Given the description of an element on the screen output the (x, y) to click on. 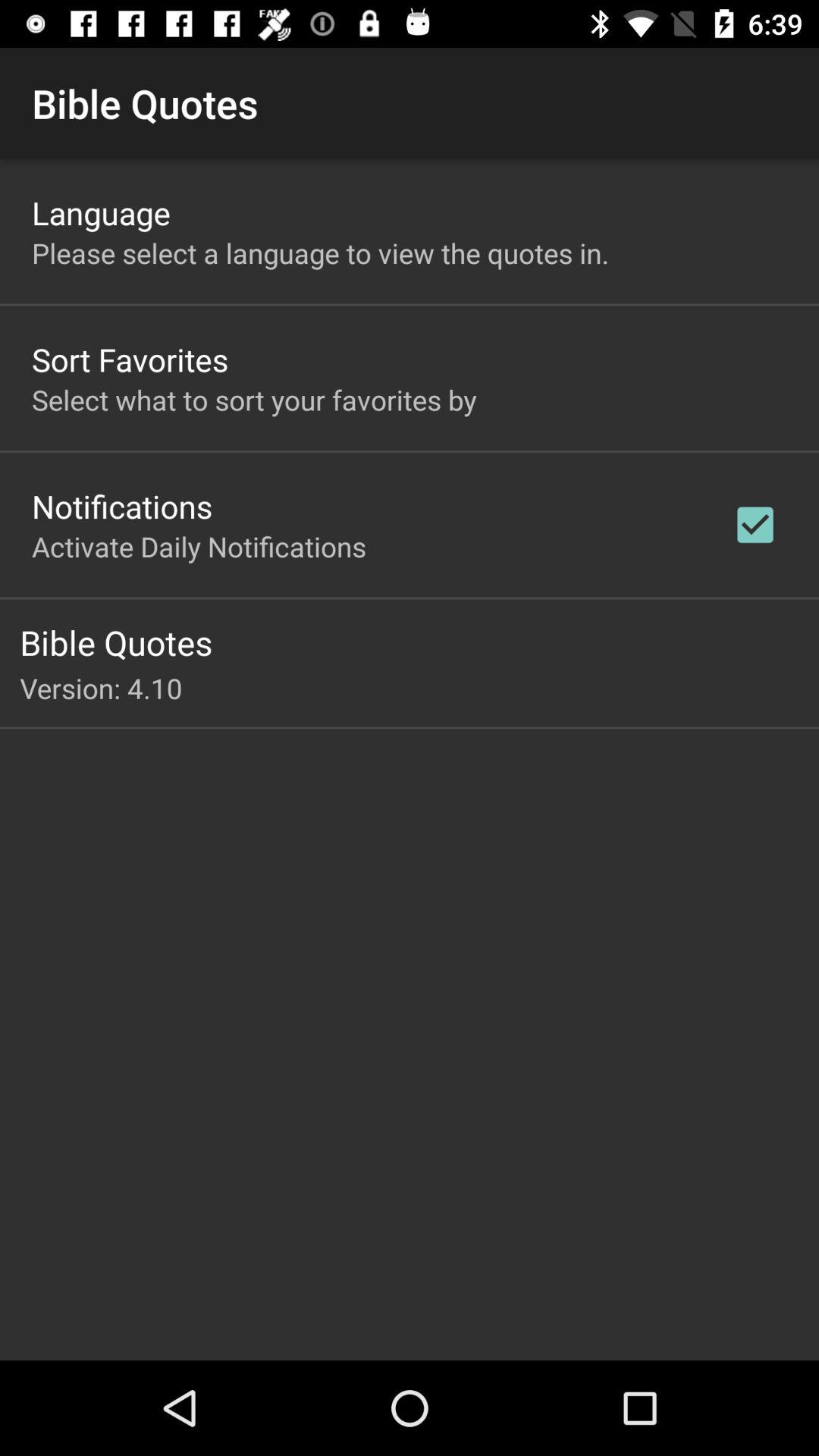
turn on item above sort favorites app (320, 252)
